Given the description of an element on the screen output the (x, y) to click on. 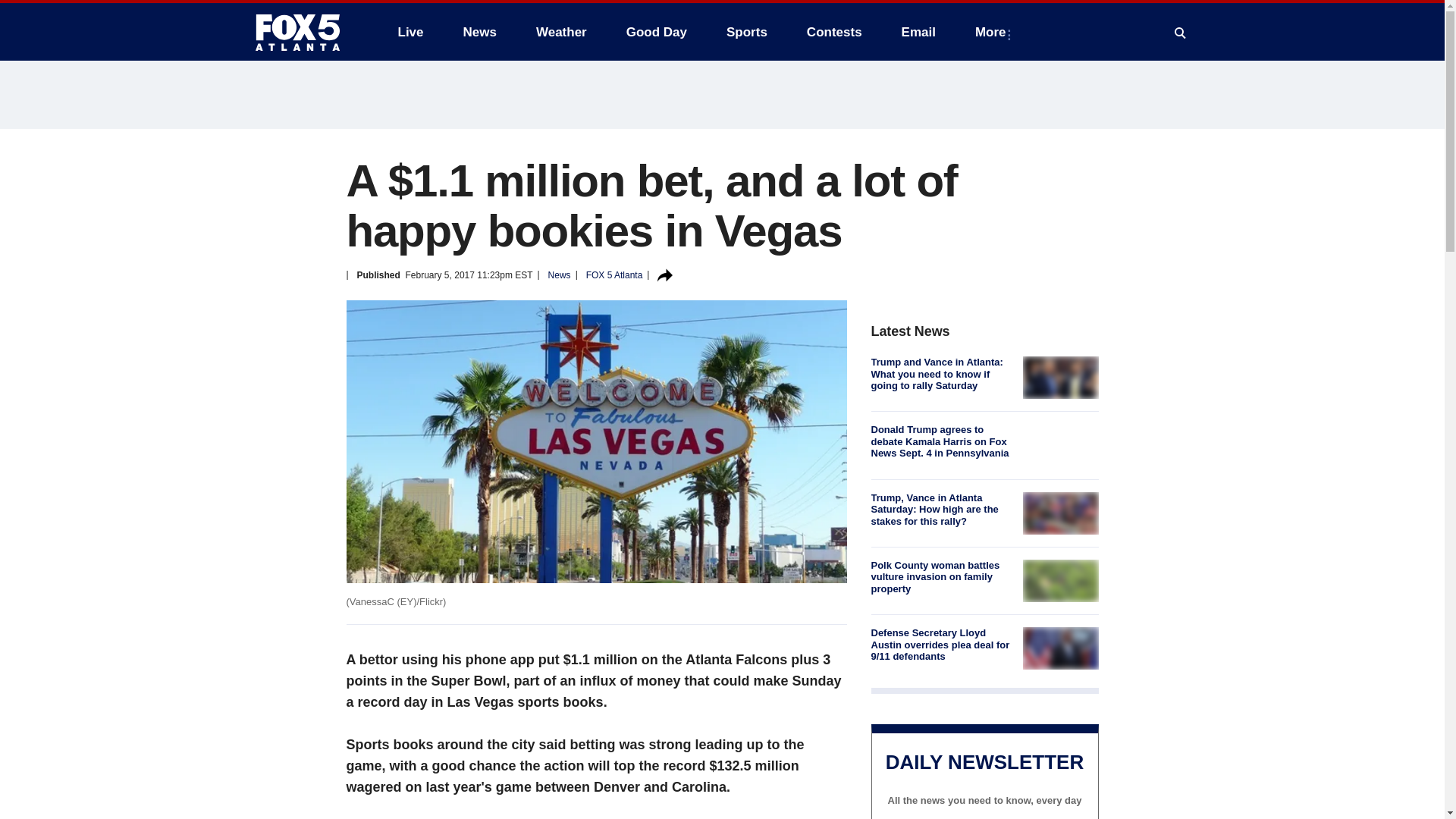
More (993, 32)
Good Day (656, 32)
Contests (834, 32)
News (479, 32)
Sports (746, 32)
Live (410, 32)
Email (918, 32)
Weather (561, 32)
